Given the description of an element on the screen output the (x, y) to click on. 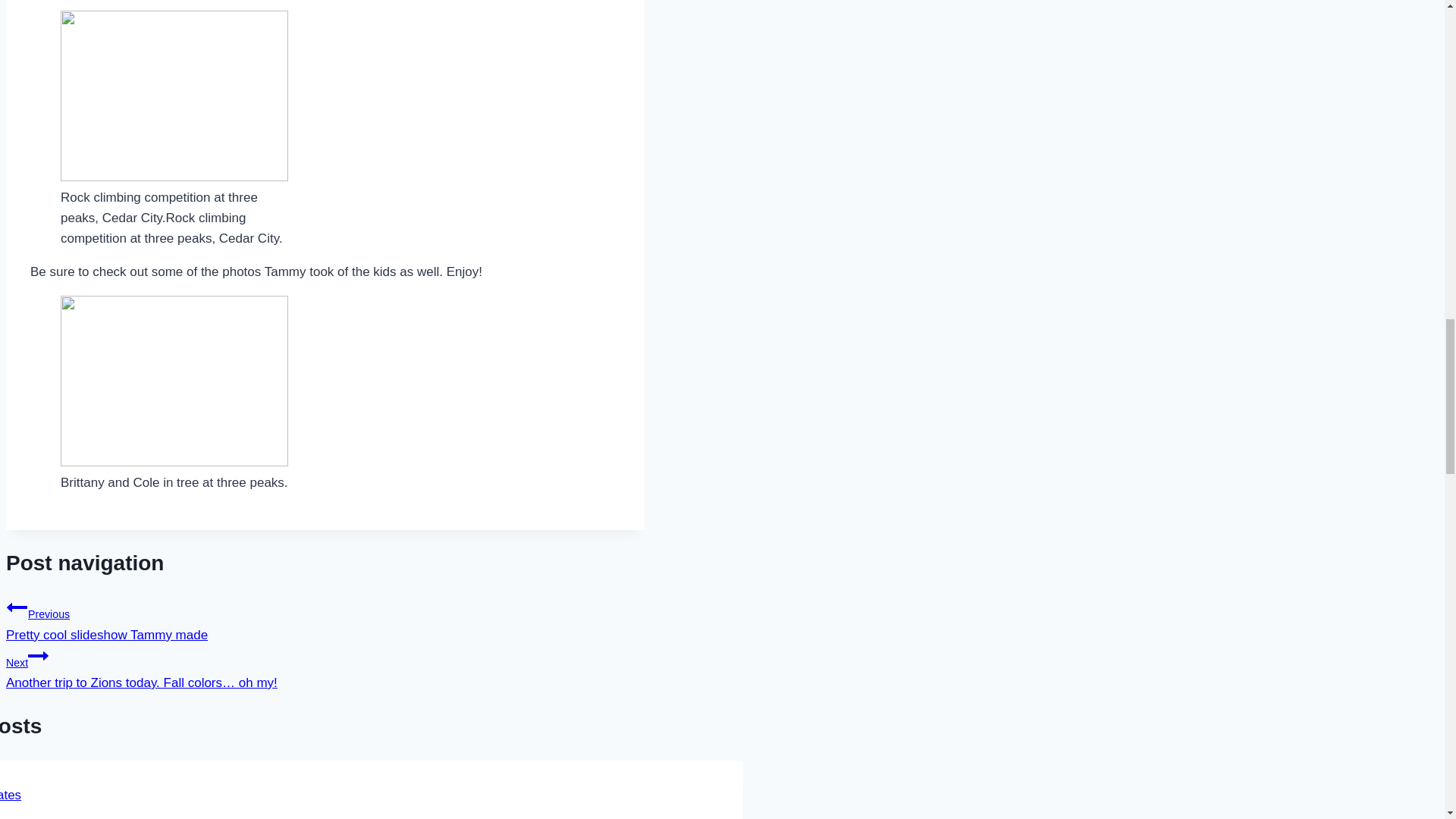
Continue (37, 655)
Previous (325, 619)
Family Updates (16, 607)
Brittany and Cole in tree at three peaks. (10, 794)
Rock climbing competition at three peaks, Cedar City. (174, 380)
